Given the description of an element on the screen output the (x, y) to click on. 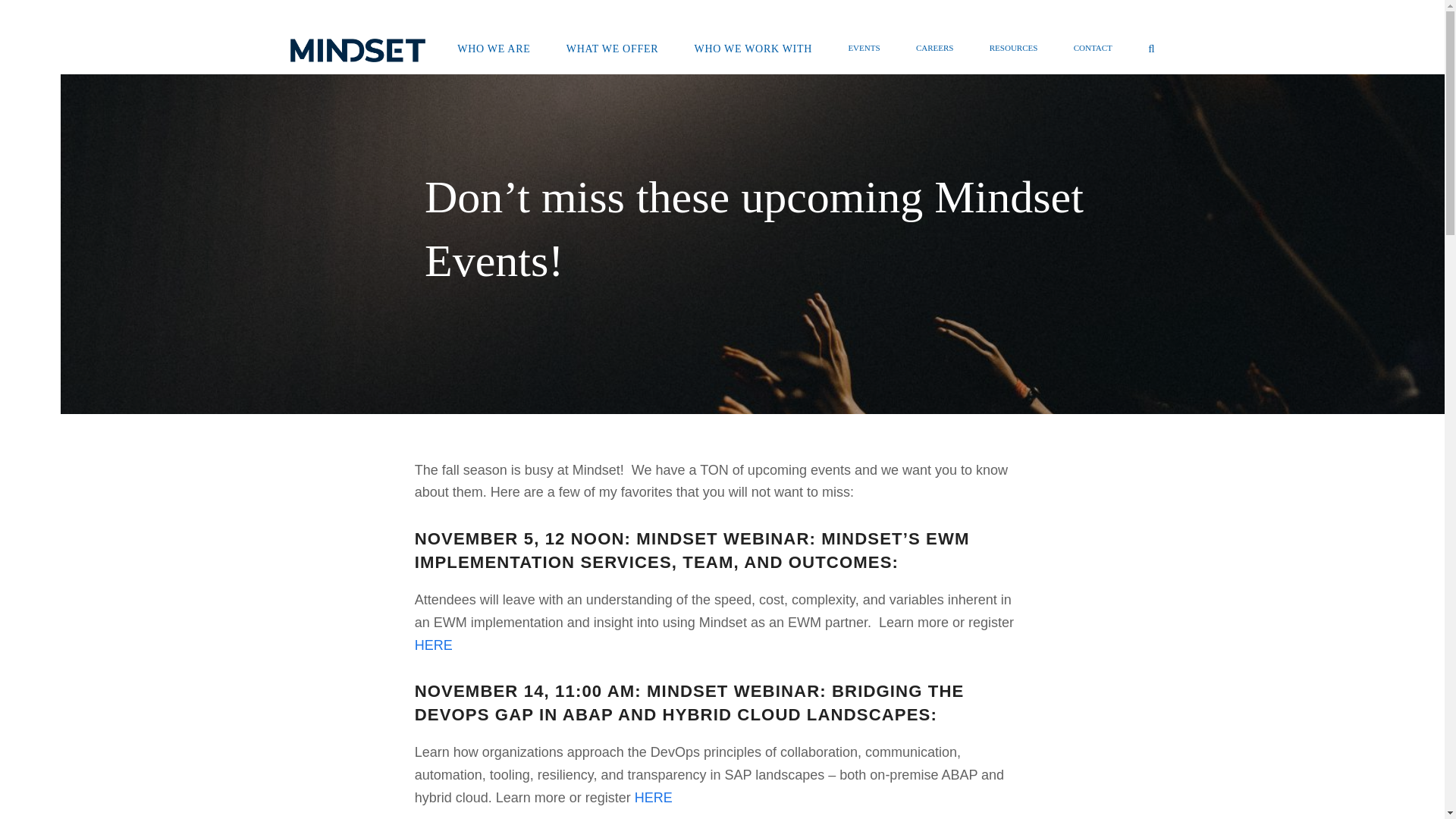
WHAT WE OFFER (612, 49)
WHO WE ARE (493, 49)
